Given the description of an element on the screen output the (x, y) to click on. 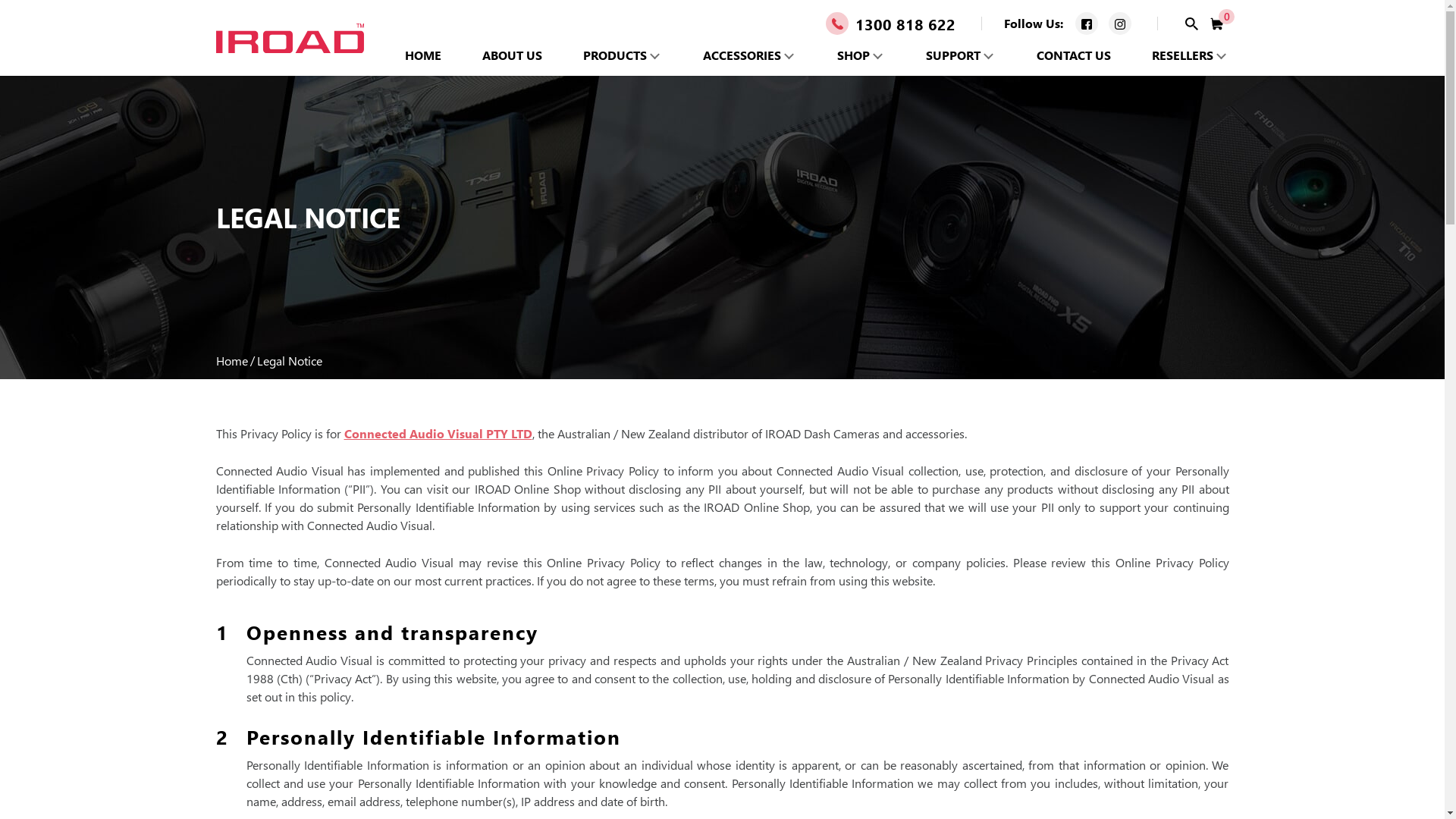
SHOP Element type: text (853, 54)
CONTACT US Element type: text (1073, 54)
SUPPORT Element type: text (952, 54)
RESELLERS Element type: text (1182, 54)
PRODUCTS Element type: text (614, 54)
HOME Element type: text (422, 54)
Instagram Element type: hover (1119, 23)
ACCESSORIES Element type: text (741, 54)
ABOUT US Element type: text (512, 54)
1300 818 622 Element type: text (890, 21)
Home Element type: text (231, 360)
Facebook Element type: hover (1086, 23)
IROAD AU Element type: hover (290, 40)
Connected Audio Visual PTY LTD Element type: text (438, 433)
